Given the description of an element on the screen output the (x, y) to click on. 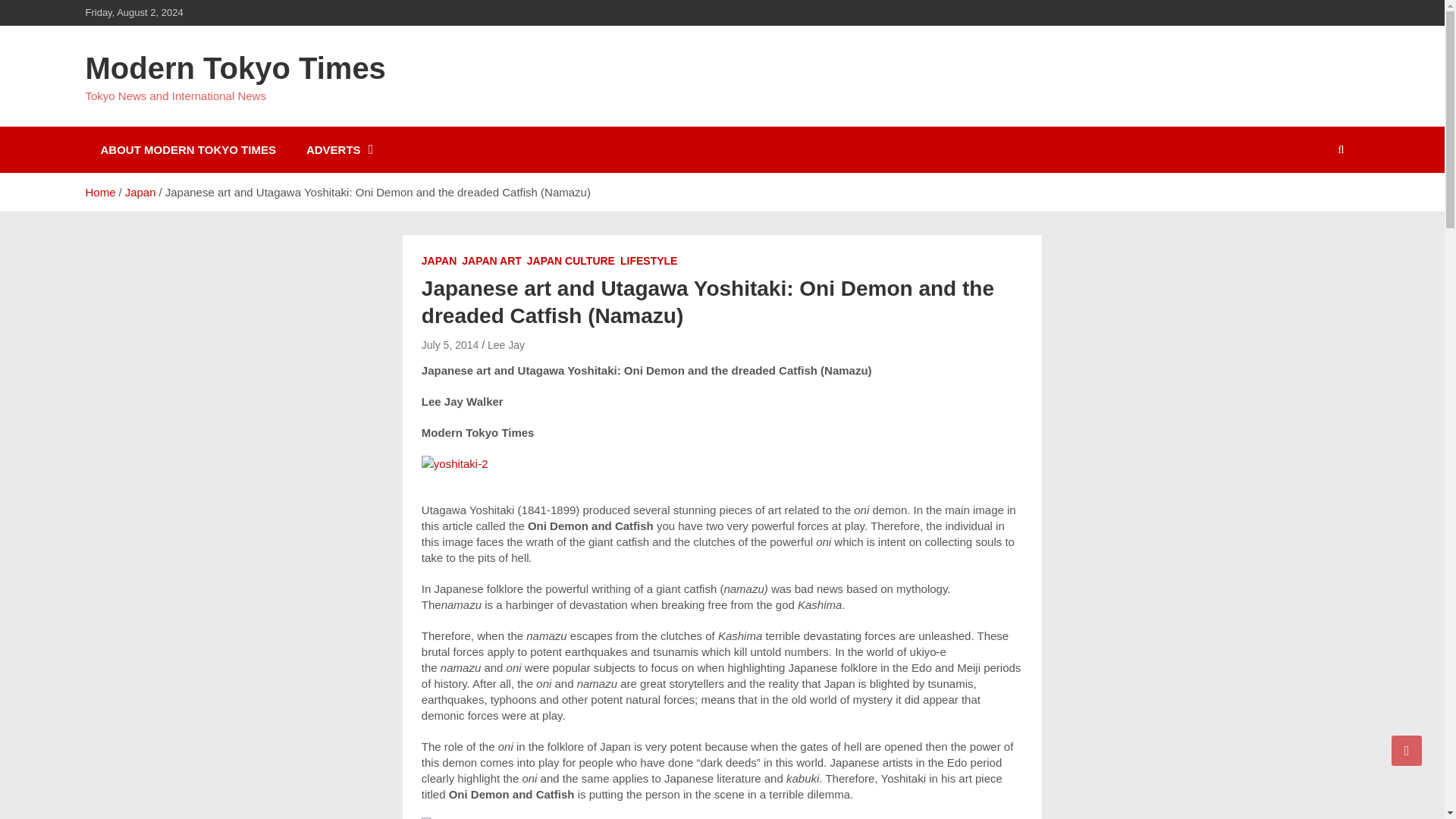
Home (99, 192)
Go to Top (1406, 750)
JAPAN ART (491, 261)
JAPAN CULTURE (570, 261)
LIFESTYLE (648, 261)
ABOUT MODERN TOKYO TIMES (186, 149)
Modern Tokyo Times (234, 68)
Japan (140, 192)
JAPAN (439, 261)
July 5, 2014 (450, 345)
Lee Jay (505, 345)
ADVERTS (338, 149)
